Given the description of an element on the screen output the (x, y) to click on. 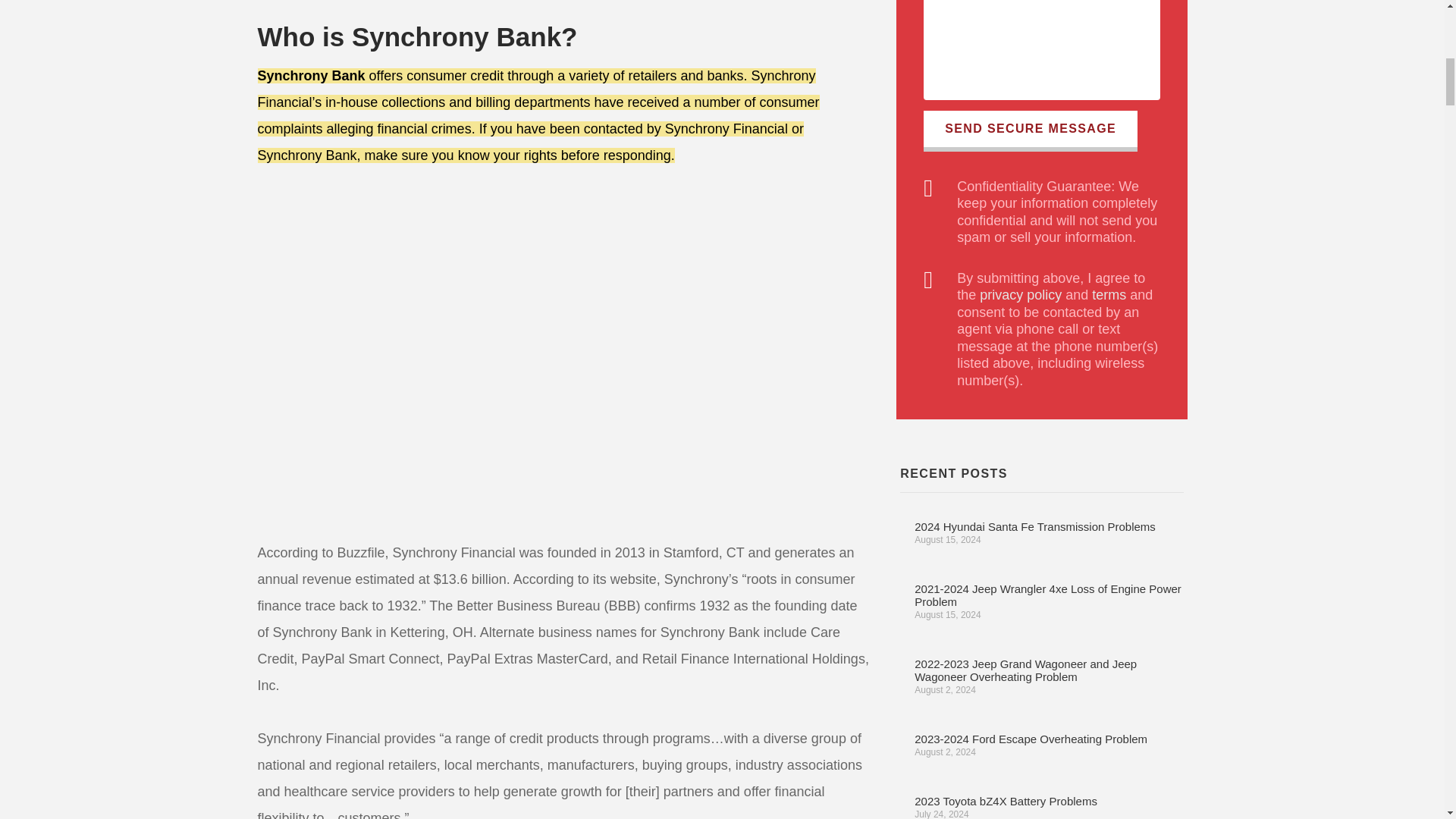
2024 Hyundai Santa Fe Transmission Problems (1035, 526)
SEND SECURE MESSAGE (1030, 130)
2021-2024 Jeep Wrangler 4xe Loss of Engine Power Problem (1047, 595)
terms (1108, 294)
2023 Toyota bZ4X Battery Problems (1005, 800)
SEND SECURE MESSAGE (1030, 130)
2023-2024 Ford Escape Overheating Problem (1030, 738)
privacy policy (1020, 294)
